Given the description of an element on the screen output the (x, y) to click on. 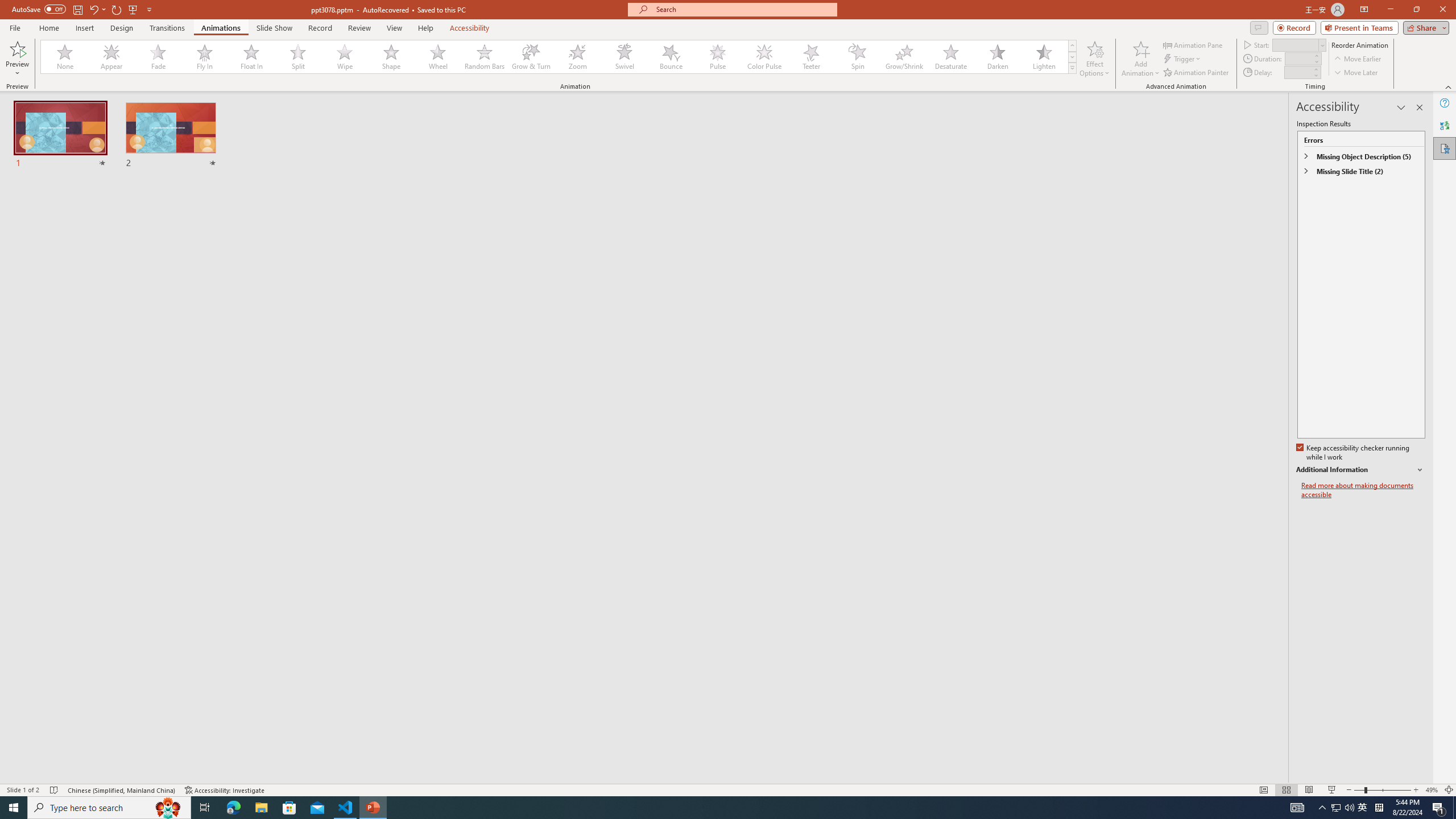
Darken (997, 56)
Random Bars (484, 56)
Move Later (1355, 72)
Additional Information (1360, 469)
Teeter (810, 56)
Wipe (344, 56)
Fly In (205, 56)
Color Pulse (764, 56)
